Given the description of an element on the screen output the (x, y) to click on. 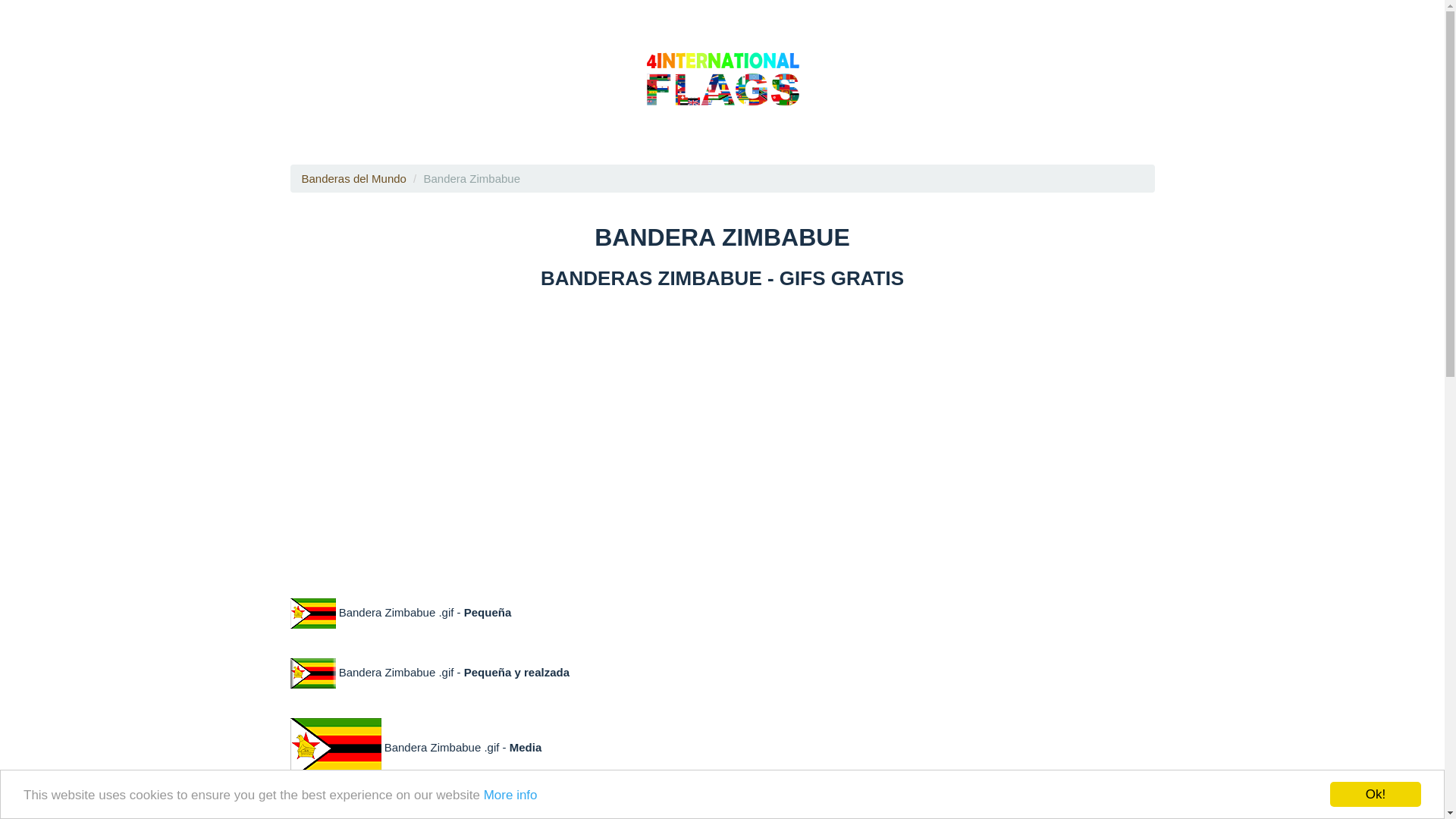
Ok! Element type: text (1375, 793)
Advertisement Element type: hover (721, 432)
More info Element type: text (510, 794)
Banderas del Mundo Element type: text (353, 178)
